Given the description of an element on the screen output the (x, y) to click on. 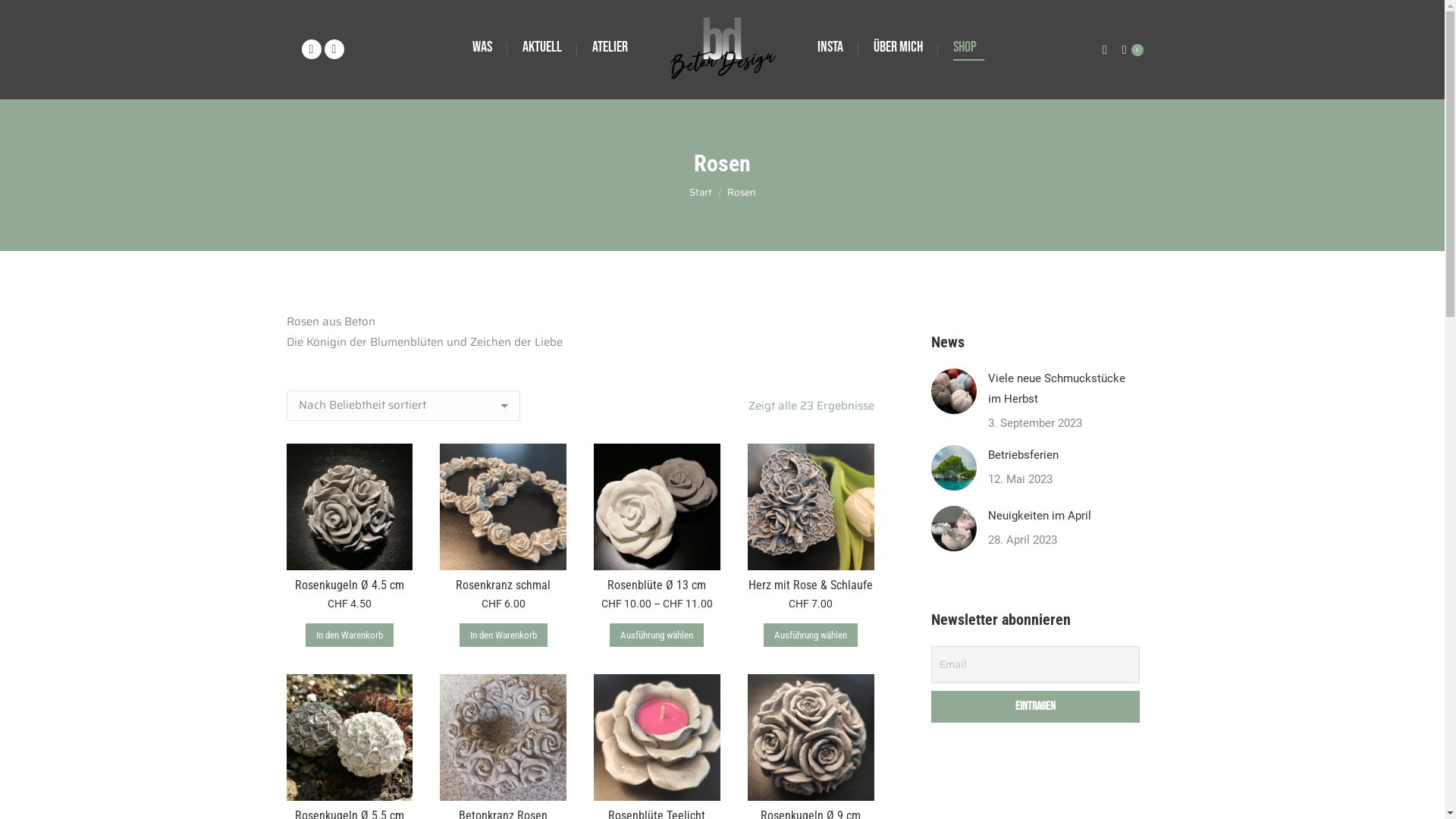
Neuigkeiten im April Element type: text (1038, 515)
Shop Element type: text (967, 46)
Herz mit Rose & Schlaufe Element type: text (810, 584)
Start Element type: text (699, 192)
In den Warenkorb Element type: text (349, 634)
Instagram page opens in new window Element type: text (334, 49)
In den Warenkorb Element type: text (503, 634)
Eintragen Element type: text (1035, 706)
Insta Element type: text (830, 46)
Rosenkranz schmal Element type: text (502, 584)
Los! Element type: text (23, 17)
Betriebsferien Element type: text (1022, 455)
Aktuell Element type: text (541, 46)
Facebook page opens in new window Element type: text (311, 49)
 1 Element type: text (1132, 49)
Atelier Element type: text (609, 46)
Was Element type: text (481, 46)
